Given the description of an element on the screen output the (x, y) to click on. 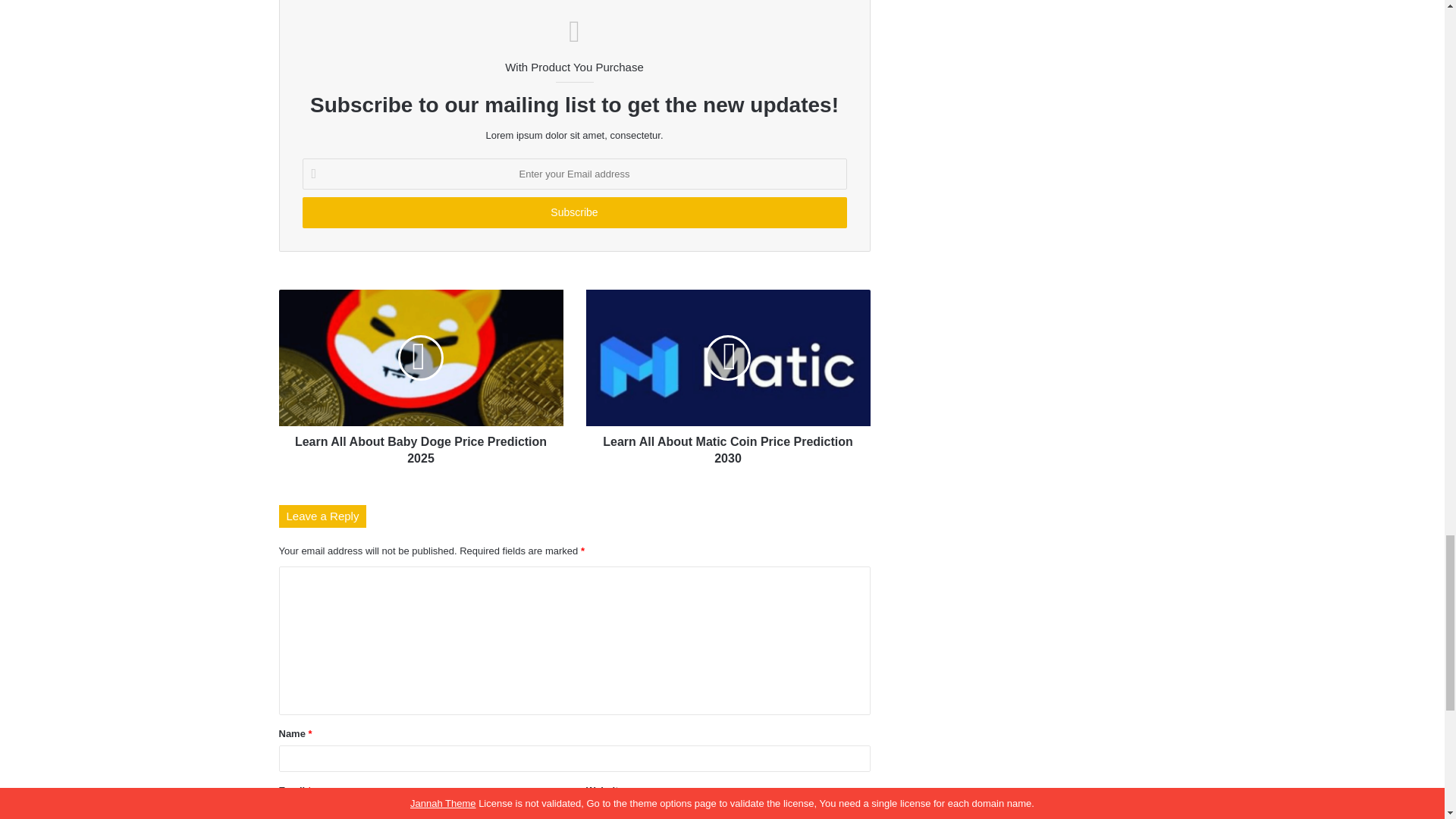
Subscribe (573, 212)
